Given the description of an element on the screen output the (x, y) to click on. 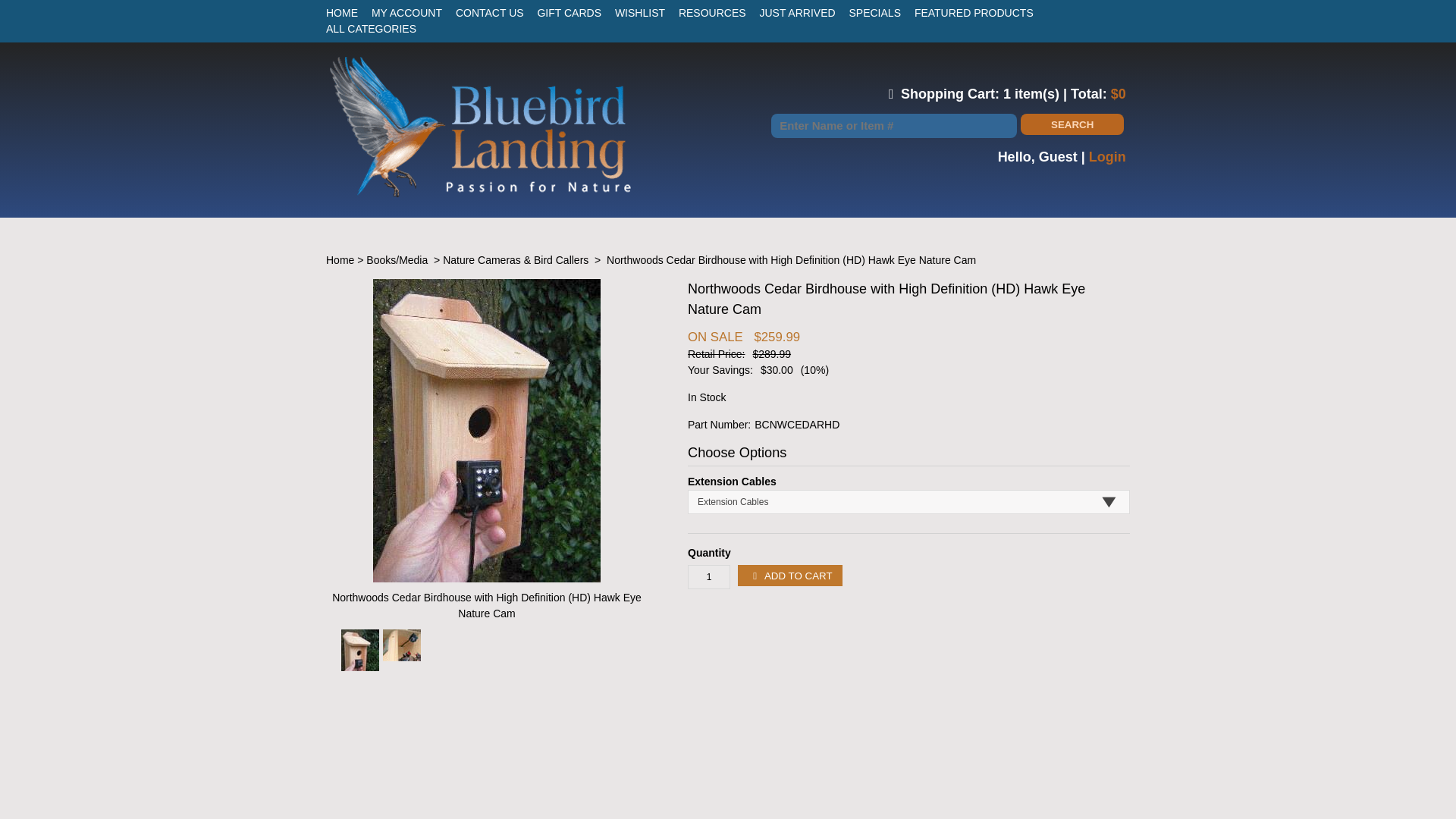
MY ACCOUNT (406, 12)
ALL CATEGORIES (371, 28)
Search (1072, 124)
RESOURCES (711, 12)
CONTACT US (489, 12)
Bluebird Landing, LLC (480, 193)
JUST ARRIVED (797, 12)
home (480, 193)
View Cart (928, 94)
1 (708, 576)
